Given the description of an element on the screen output the (x, y) to click on. 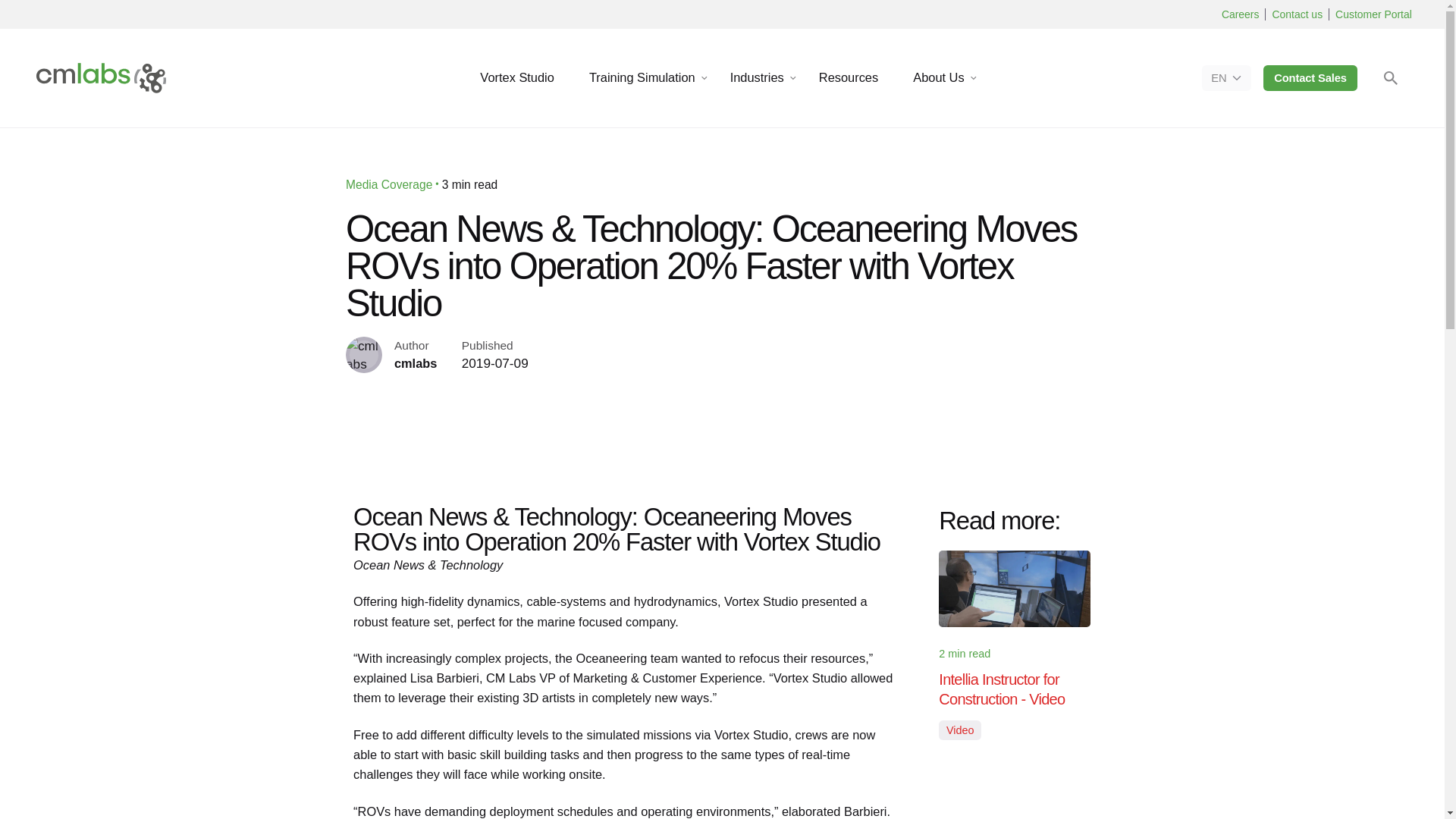
Industries (757, 78)
Resources (848, 78)
Careers (1240, 13)
Training Simulation (642, 78)
About Us (938, 78)
Vortex Studio (517, 78)
Contact us (1296, 13)
Customer Portal (1373, 13)
